Given the description of an element on the screen output the (x, y) to click on. 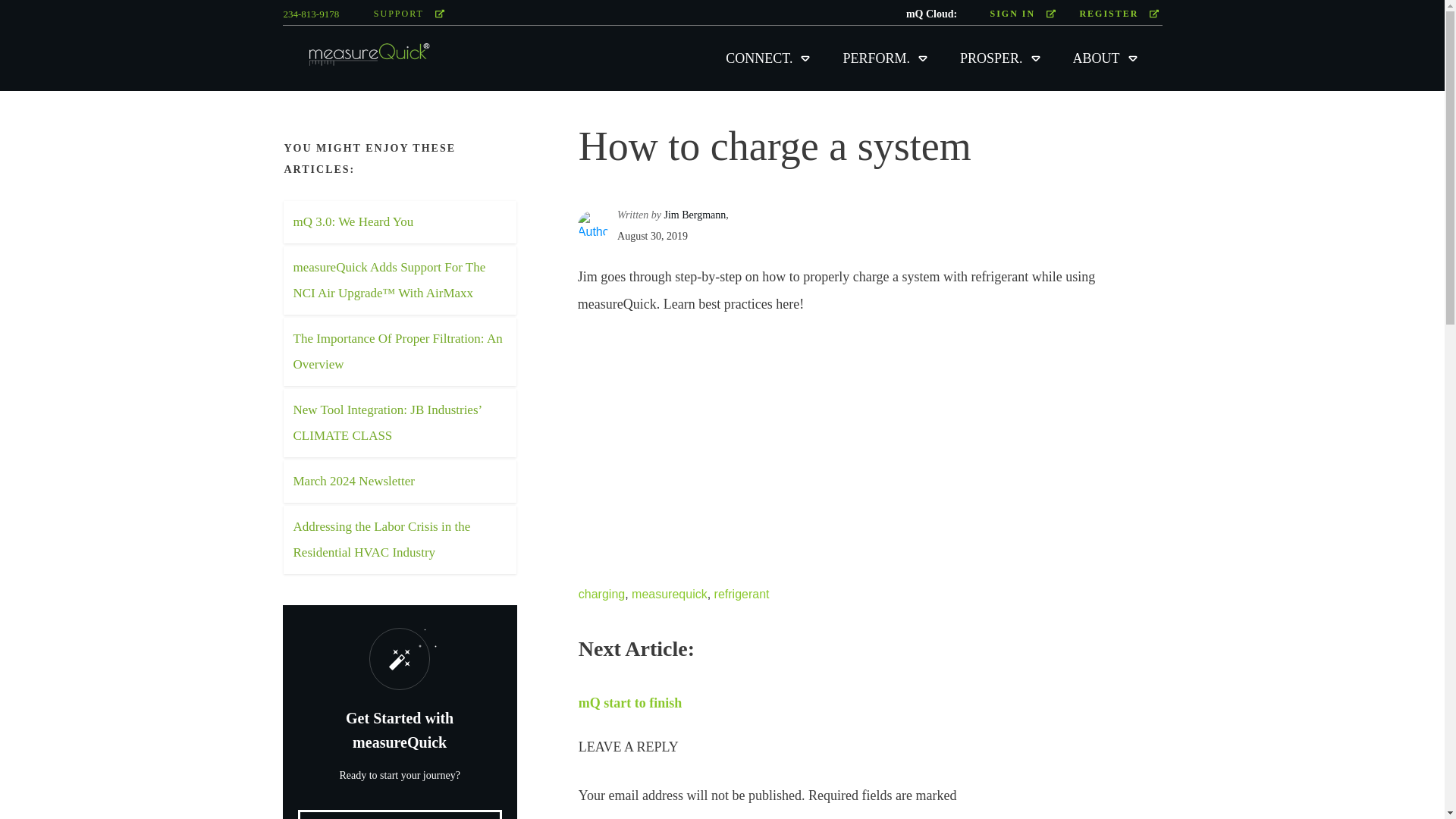
SIGN IN (1022, 13)
refrigerant (742, 594)
SUPPORT (408, 13)
PROSPER. (1000, 58)
March 2024 Newsletter (353, 481)
mQ 3.0: We Heard You (352, 221)
234-813-9178 (311, 13)
Addressing the Labor Crisis in the Residential HVAC Industry (381, 539)
How to properly charge a system (767, 443)
charging (601, 594)
The Importance Of Proper Filtration: An Overview (397, 351)
undefined (593, 225)
REGISTER (1118, 13)
PERFORM. (886, 58)
charging (601, 594)
